Given the description of an element on the screen output the (x, y) to click on. 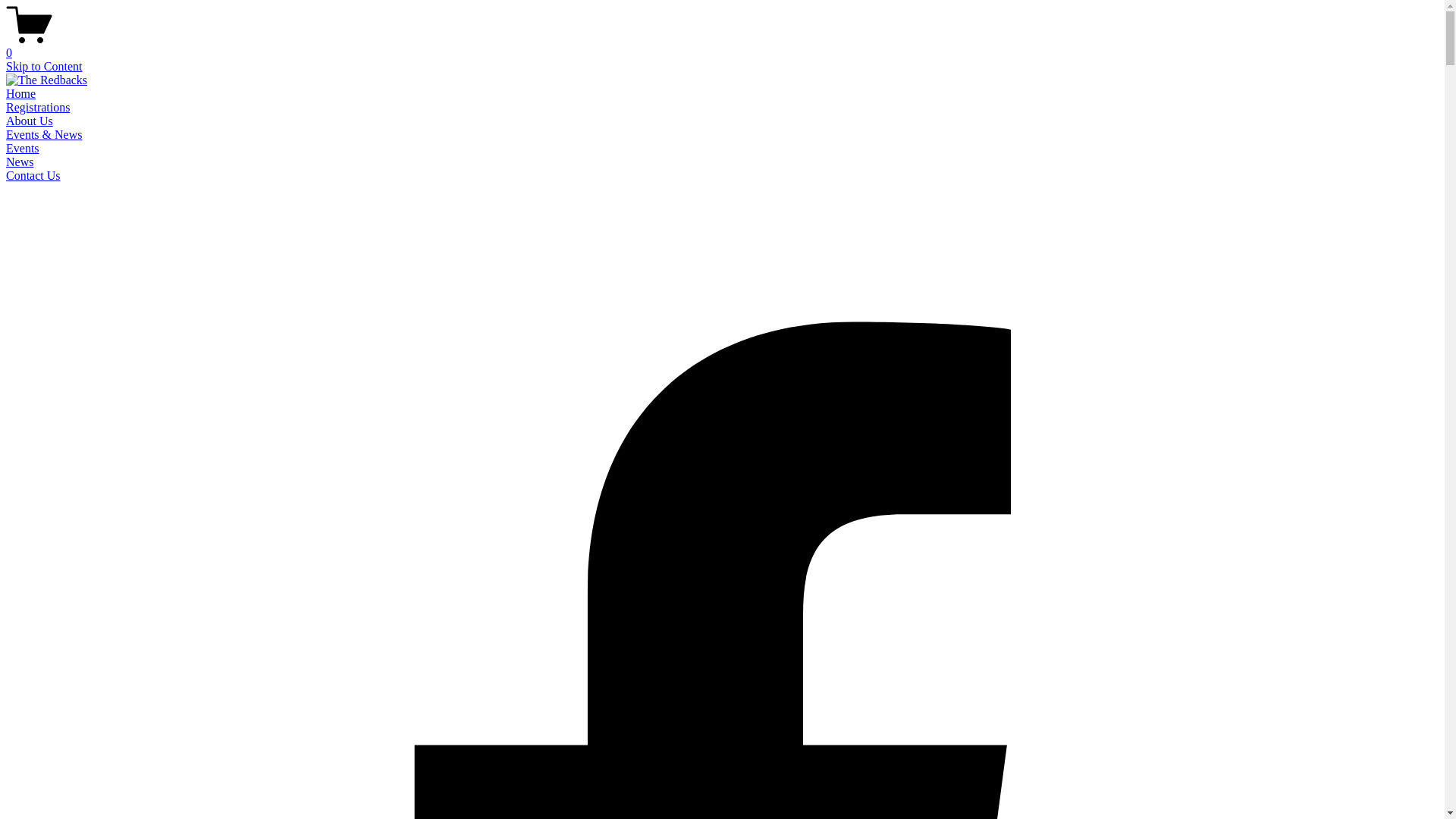
0 Element type: text (722, 45)
About Us Element type: text (29, 120)
Contact Us Element type: text (33, 175)
Events & News Element type: text (43, 134)
Skip to Content Element type: text (43, 65)
Registrations Element type: text (37, 106)
Home Element type: text (20, 93)
News Element type: text (19, 161)
Events Element type: text (22, 147)
